Given the description of an element on the screen output the (x, y) to click on. 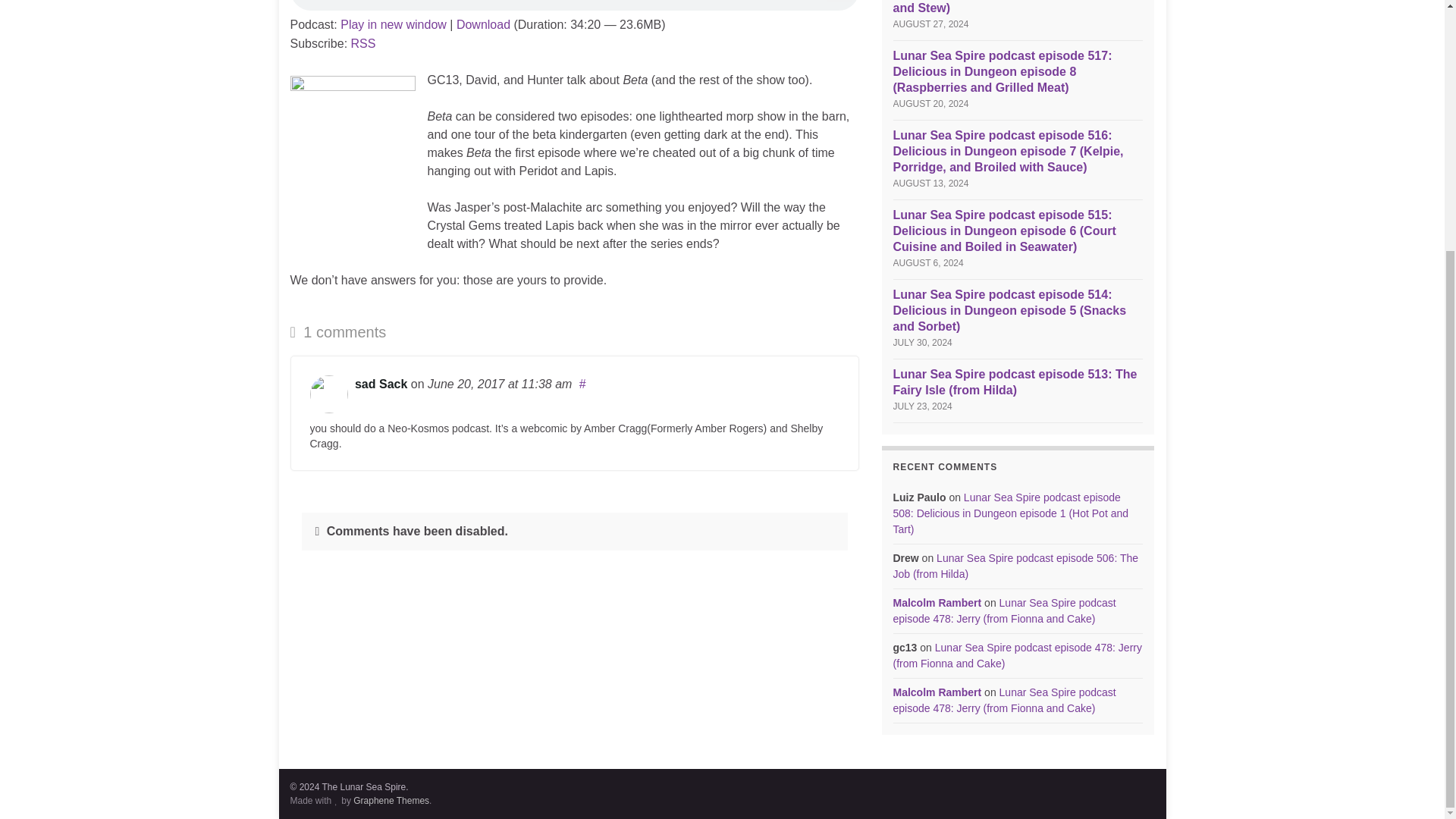
sad Sack (381, 383)
Download (484, 24)
Subscribe via RSS (362, 42)
Play in new window (393, 24)
Malcolm Rambert (937, 692)
Graphene Themes (391, 800)
RSS (362, 42)
Download (484, 24)
Malcolm Rambert (937, 603)
Play in new window (393, 24)
